Given the description of an element on the screen output the (x, y) to click on. 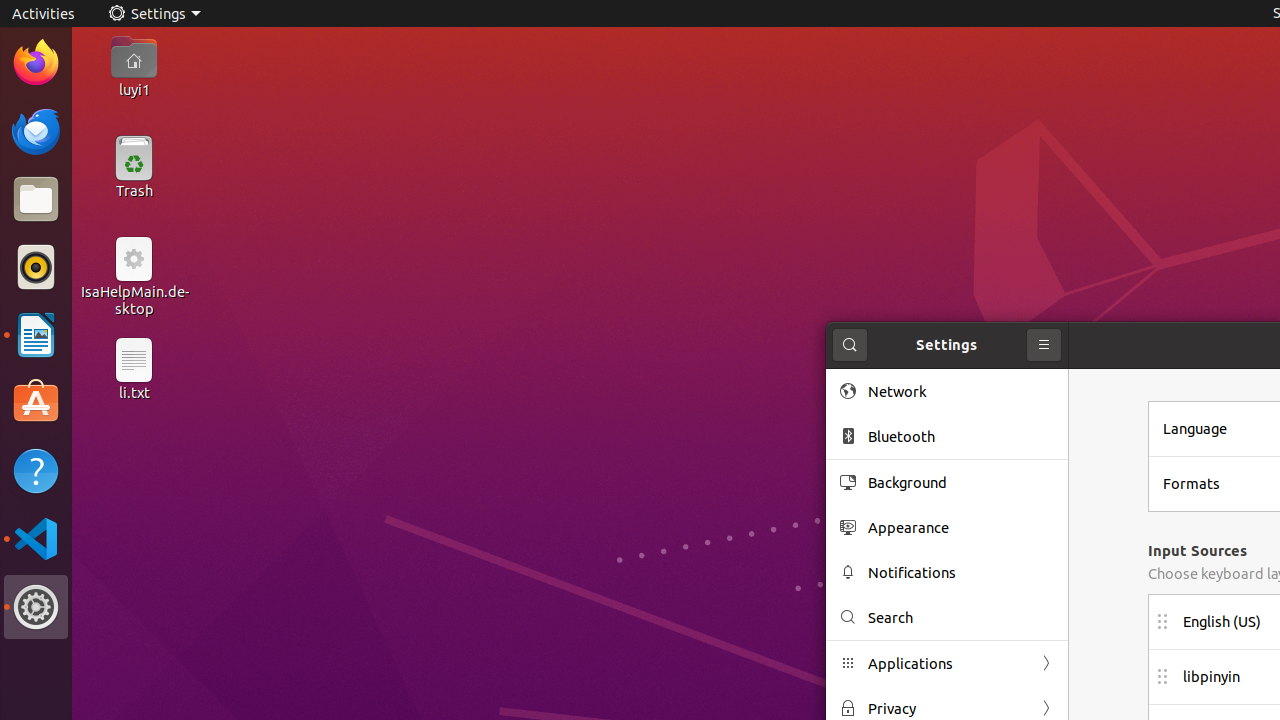
Input Sources Element type: label (1197, 550)
li.txt Element type: label (133, 392)
Settings Element type: menu (154, 13)
